Given the description of an element on the screen output the (x, y) to click on. 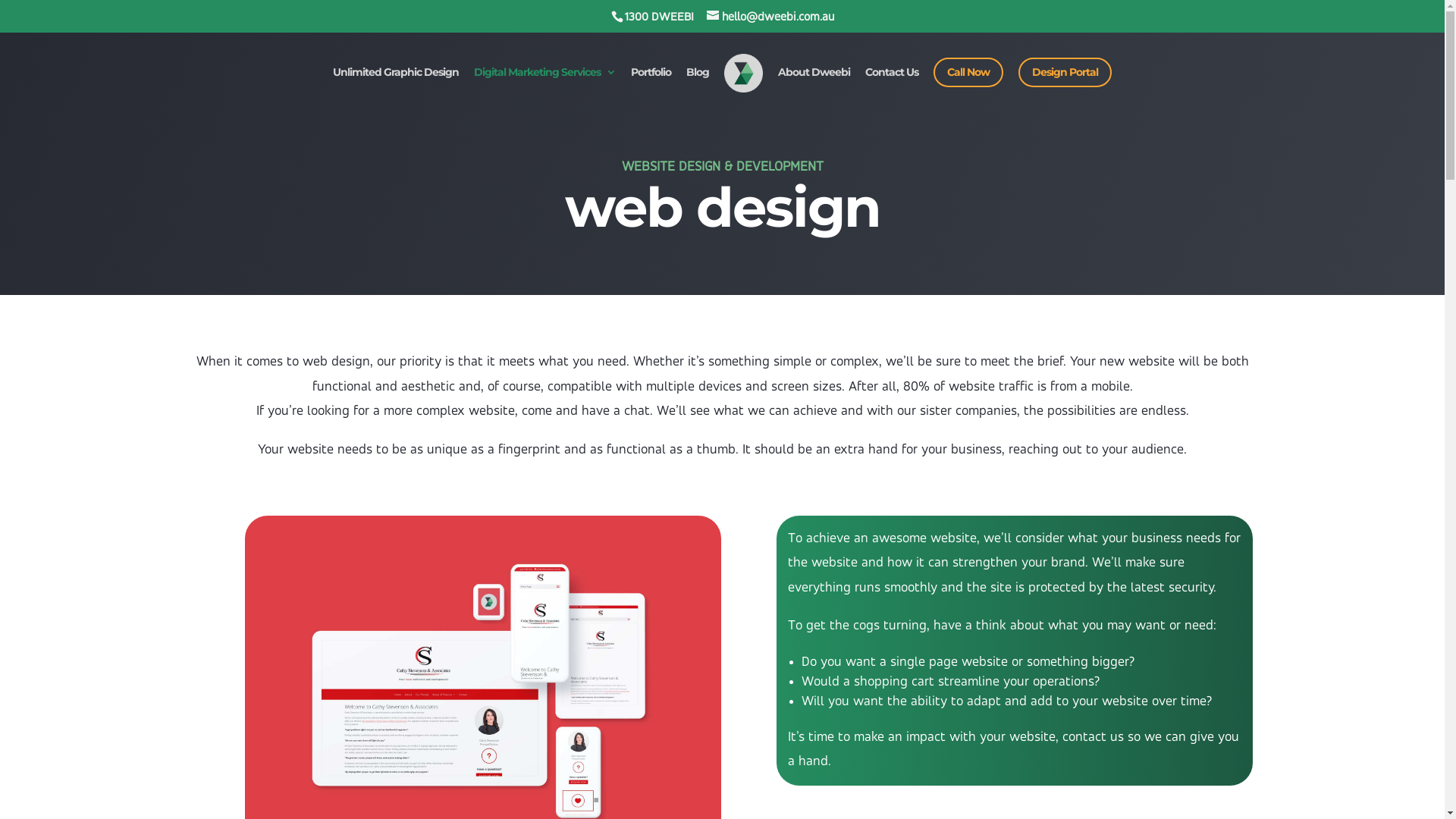
Design Portal Element type: text (1064, 72)
hello@dweebi.com.au Element type: text (770, 17)
Unlimited Graphic Design Element type: text (395, 84)
About Dweebi Element type: text (814, 84)
1300 DWEEBI Element type: text (658, 17)
Contact Us Element type: text (891, 84)
Portfolio Element type: text (650, 84)
Call Now Element type: text (968, 72)
Digital Marketing Services Element type: text (544, 84)
Blog Element type: text (697, 84)
